Given the description of an element on the screen output the (x, y) to click on. 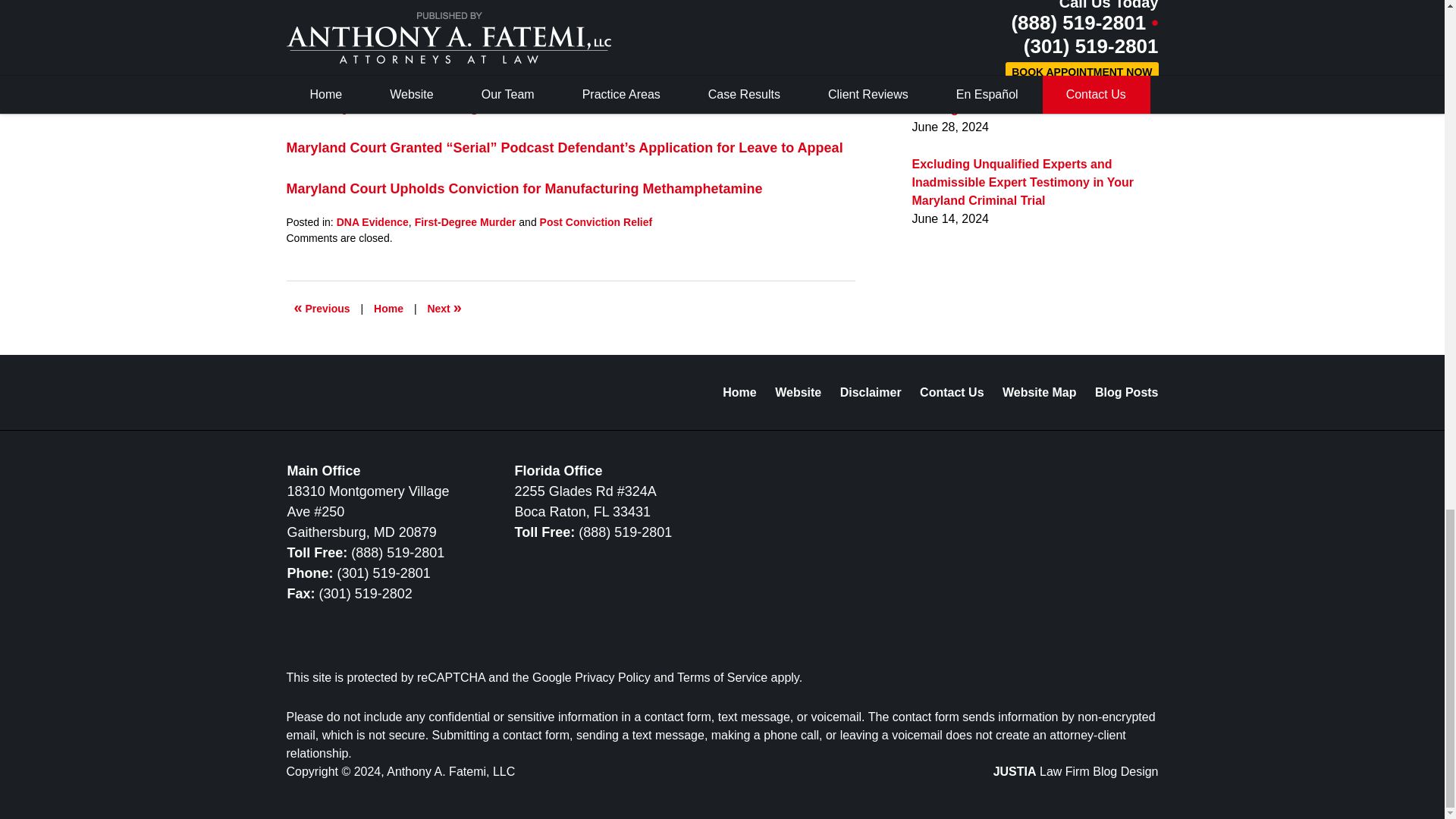
View all posts in First-Degree Murder (465, 222)
DNA Evidence (372, 222)
Post Conviction Relief (596, 222)
Home (388, 308)
View all posts in DNA Evidence (372, 222)
First-Degree Murder (465, 222)
View all posts in Post Conviction Relief (596, 222)
